Given the description of an element on the screen output the (x, y) to click on. 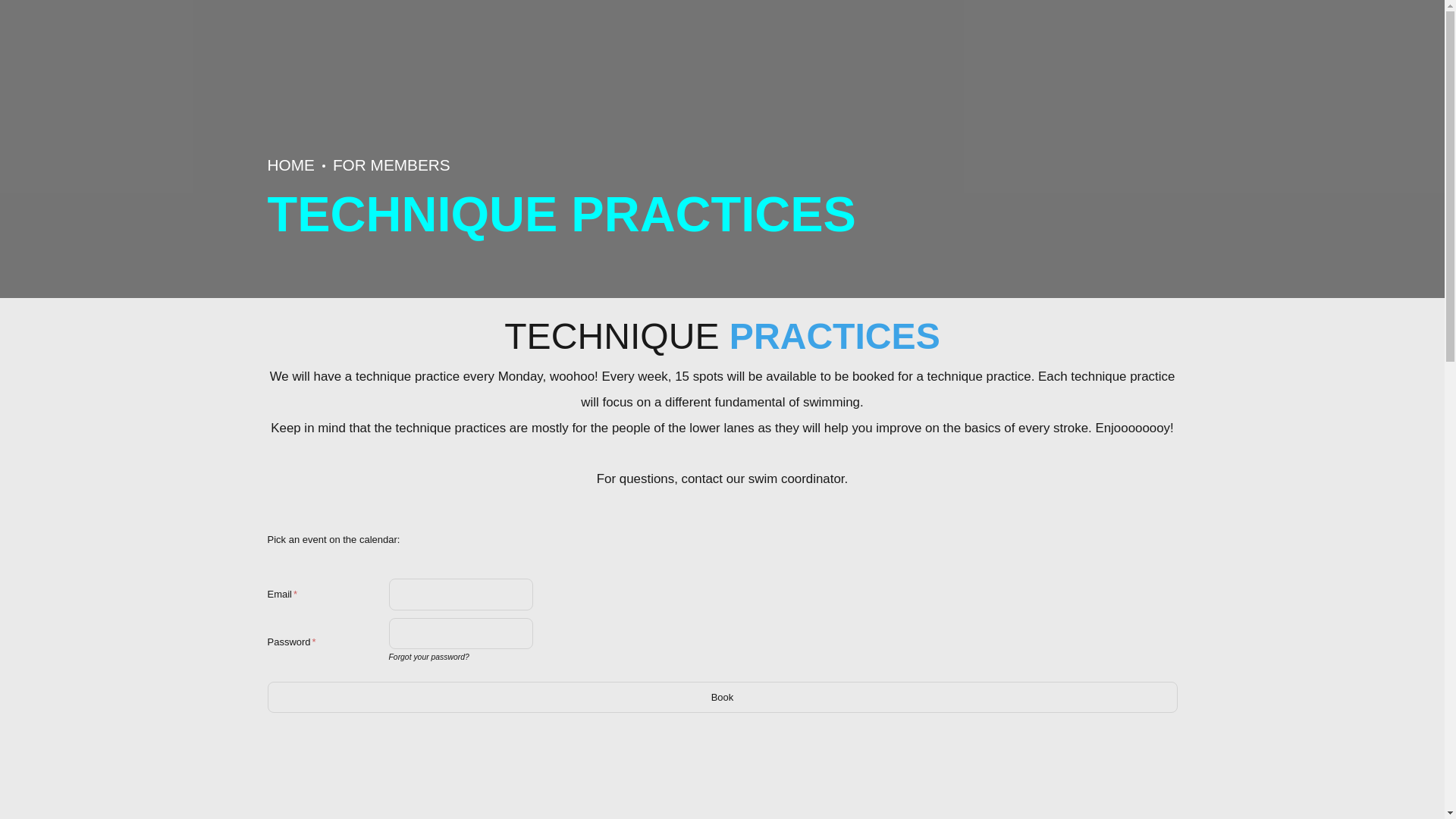
Required field (295, 593)
FOR MEMBERS (391, 164)
Required field (314, 641)
Forgot your password? (428, 656)
HOME (290, 164)
Book (721, 697)
Book (721, 697)
